Given the description of an element on the screen output the (x, y) to click on. 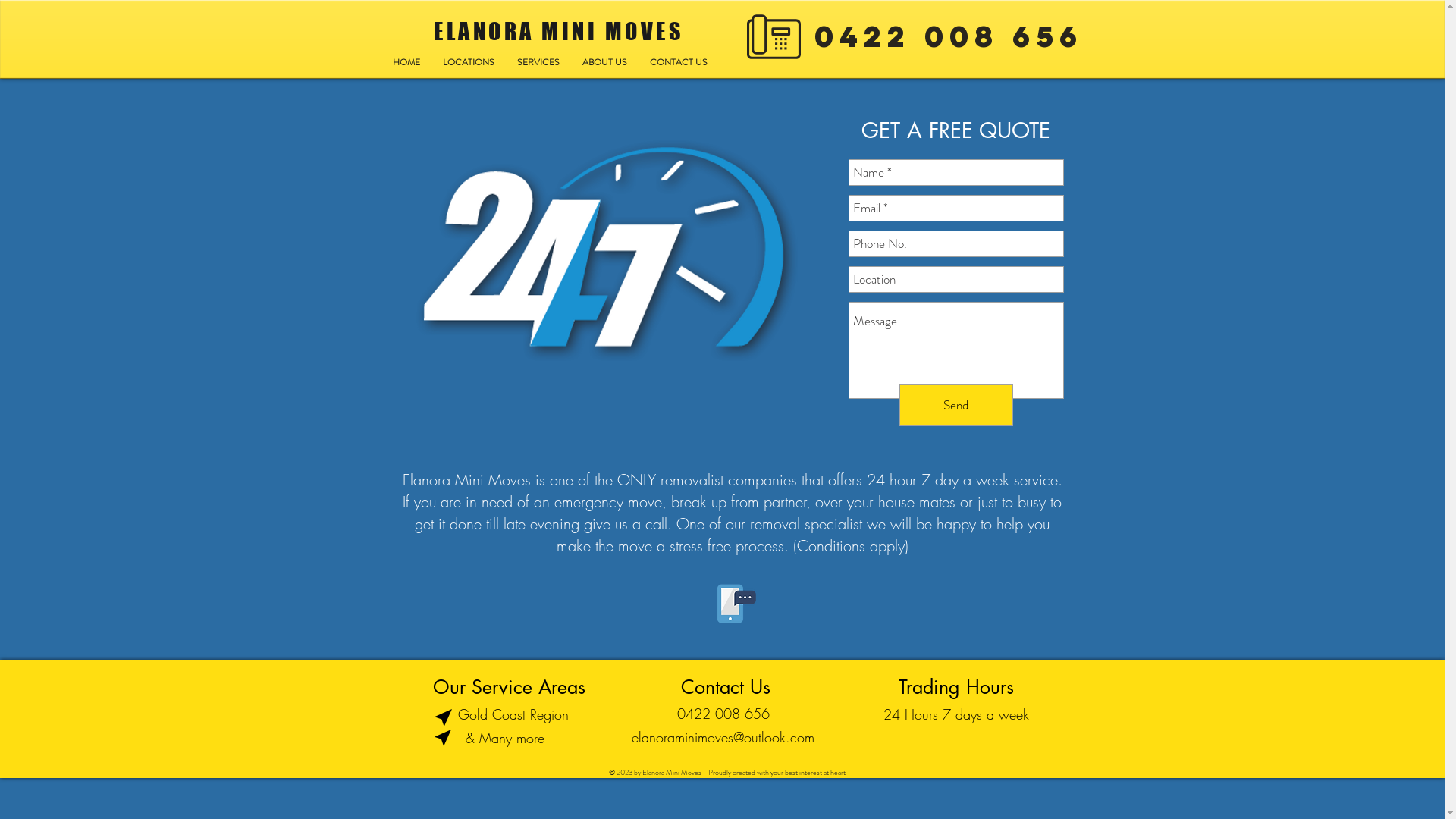
elanoraminimoves@outlook.com Element type: text (722, 737)
Our Service Areas Element type: text (508, 686)
0422 008 656 Element type: text (722, 714)
LOCATIONS Element type: text (467, 62)
SERVICES Element type: text (537, 62)
ABOUT US Element type: text (603, 62)
ELANORA MINI MOVES Element type: text (558, 30)
Send Element type: text (956, 405)
CONTACT US Element type: text (678, 62)
0422 008 656 Element type: text (948, 37)
HOME Element type: text (405, 62)
